Given the description of an element on the screen output the (x, y) to click on. 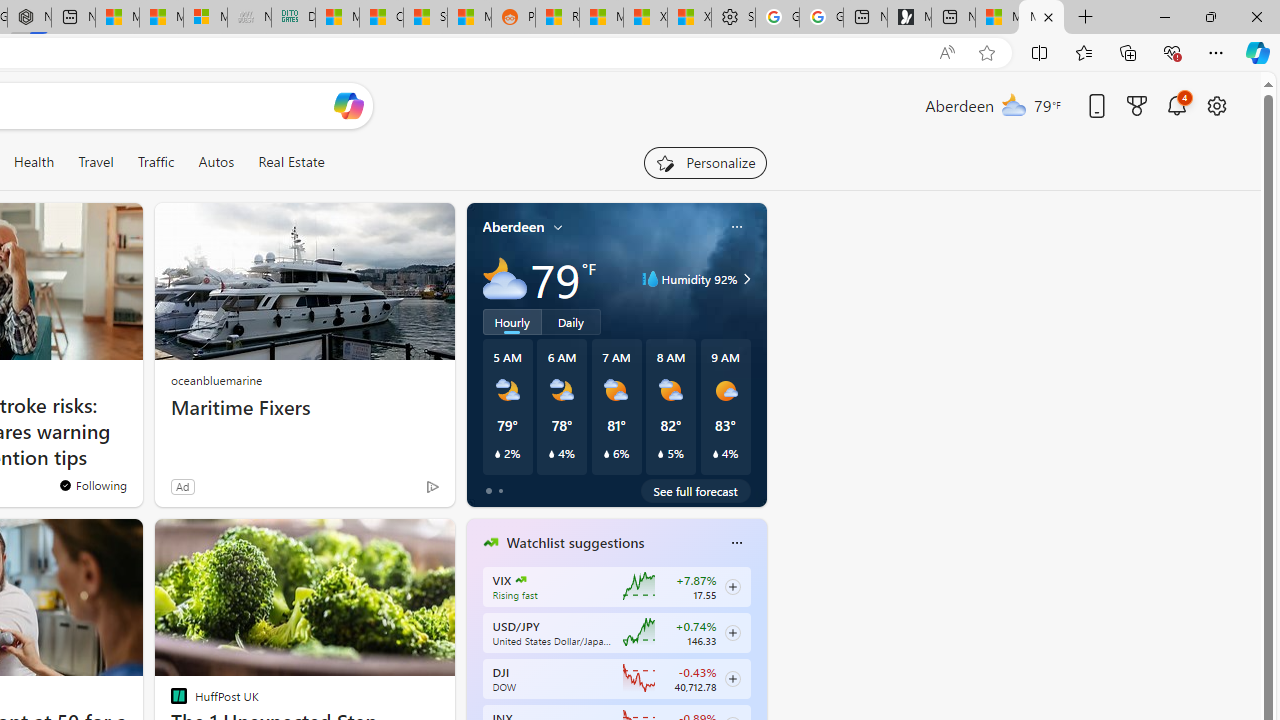
My location (558, 227)
Traffic (155, 162)
CBOE Market Volatility Index (520, 579)
Autos (216, 162)
Maritime Fixers (304, 407)
previous (476, 670)
